Given the description of an element on the screen output the (x, y) to click on. 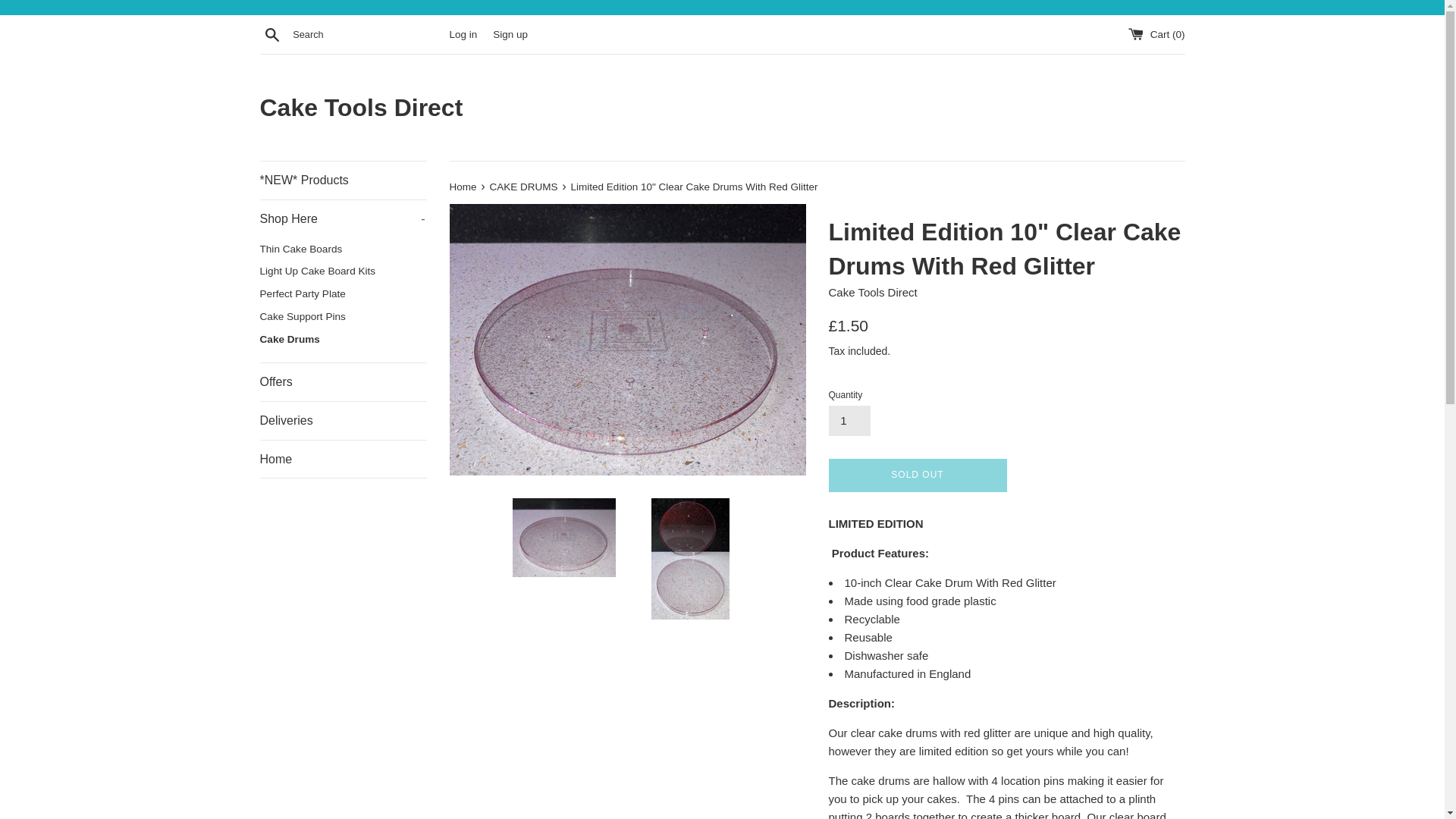
1 (848, 420)
Thin Cake Boards (342, 249)
Cake Drums (342, 339)
SOLD OUT (917, 475)
Sign up (510, 34)
Light Up Cake Board Kits (342, 271)
Cake Support Pins (342, 316)
Deliveries (342, 420)
Cake Tools Direct (722, 107)
Offers (342, 382)
